Given the description of an element on the screen output the (x, y) to click on. 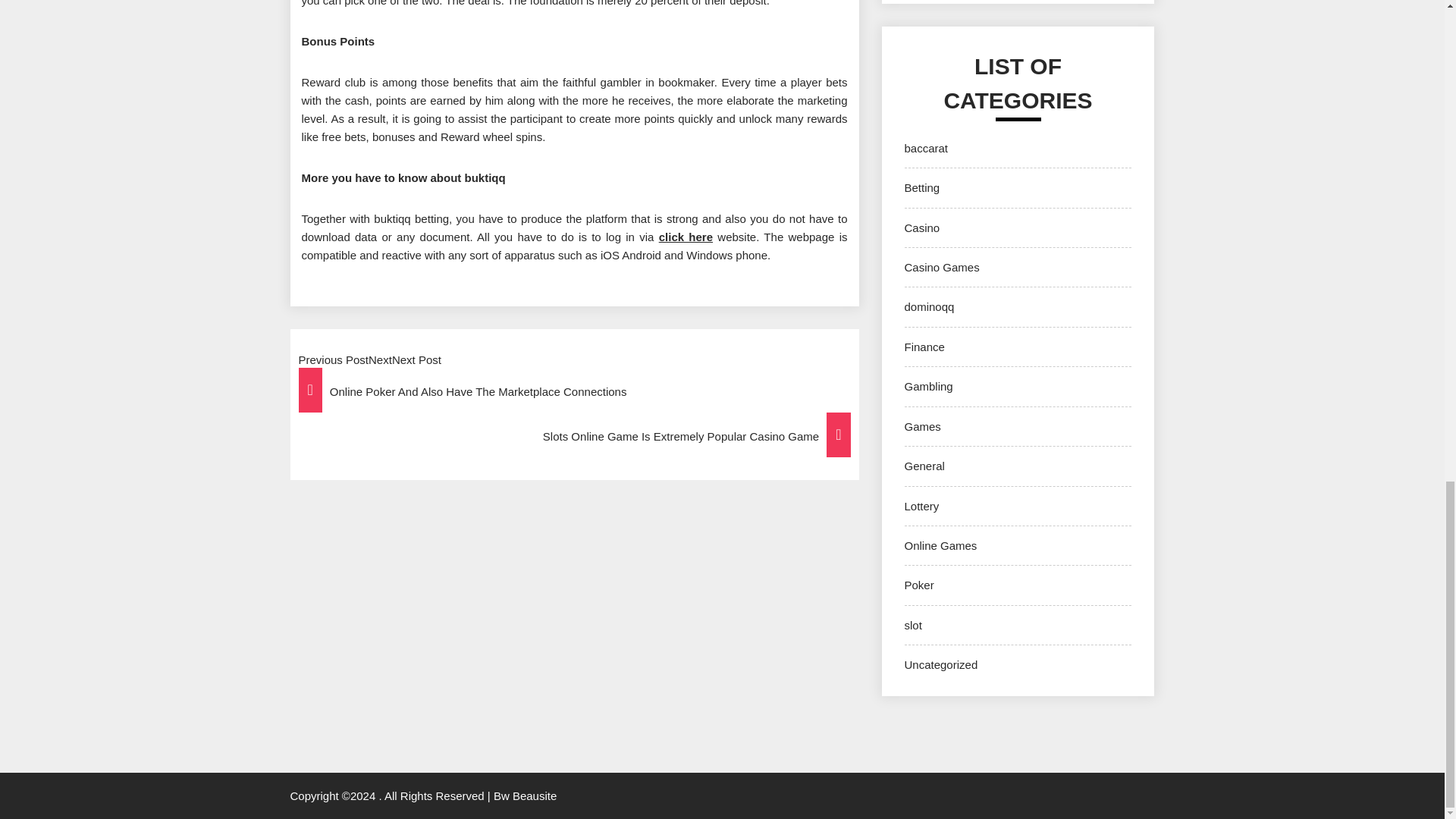
General (923, 465)
Casino (921, 227)
Poker (918, 584)
baccarat (925, 147)
Uncategorized (940, 664)
Online Games (940, 545)
Gambling (928, 386)
Betting (921, 187)
slot (912, 625)
dominoqq (928, 306)
click here (686, 236)
Games (922, 426)
Finance (923, 346)
Casino Games (941, 267)
Lottery (921, 505)
